Given the description of an element on the screen output the (x, y) to click on. 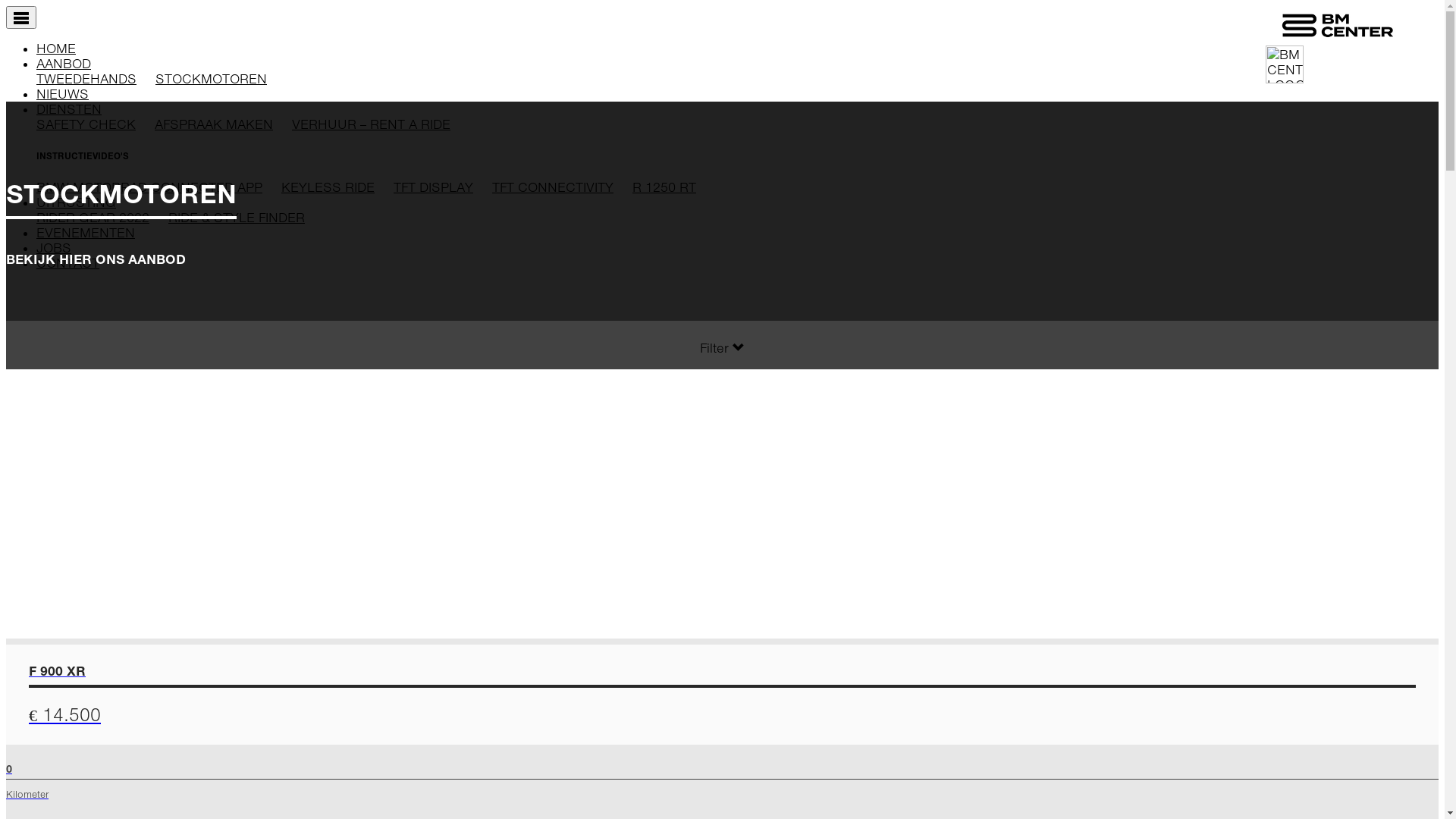
STOCKMOTOREN Element type: text (210, 78)
R 1250 RT Element type: text (664, 186)
NIEUWS Element type: text (62, 93)
HOME Element type: text (55, 48)
KEYLESS RIDE Element type: text (327, 186)
BMW MOTORRAD CONNECTED APP Element type: text (149, 186)
TWEEDEHANDS Element type: text (86, 78)
TFT DISPLAY Element type: text (433, 186)
RIDER GEAR 2022 Element type: text (92, 217)
DIENSTEN Element type: text (68, 108)
AANBOD Element type: text (63, 63)
TFT CONNECTIVITY Element type: text (552, 186)
EVENEMENTEN Element type: text (85, 232)
CONTACT Element type: text (67, 262)
AFSPRAAK MAKEN Element type: text (213, 123)
UITRUSTING Element type: text (76, 202)
Zoeken Element type: text (41, 610)
JOBS Element type: text (53, 247)
SAFETY CHECK Element type: text (85, 123)
RIDE & STYLE FINDER Element type: text (236, 217)
